Given the description of an element on the screen output the (x, y) to click on. 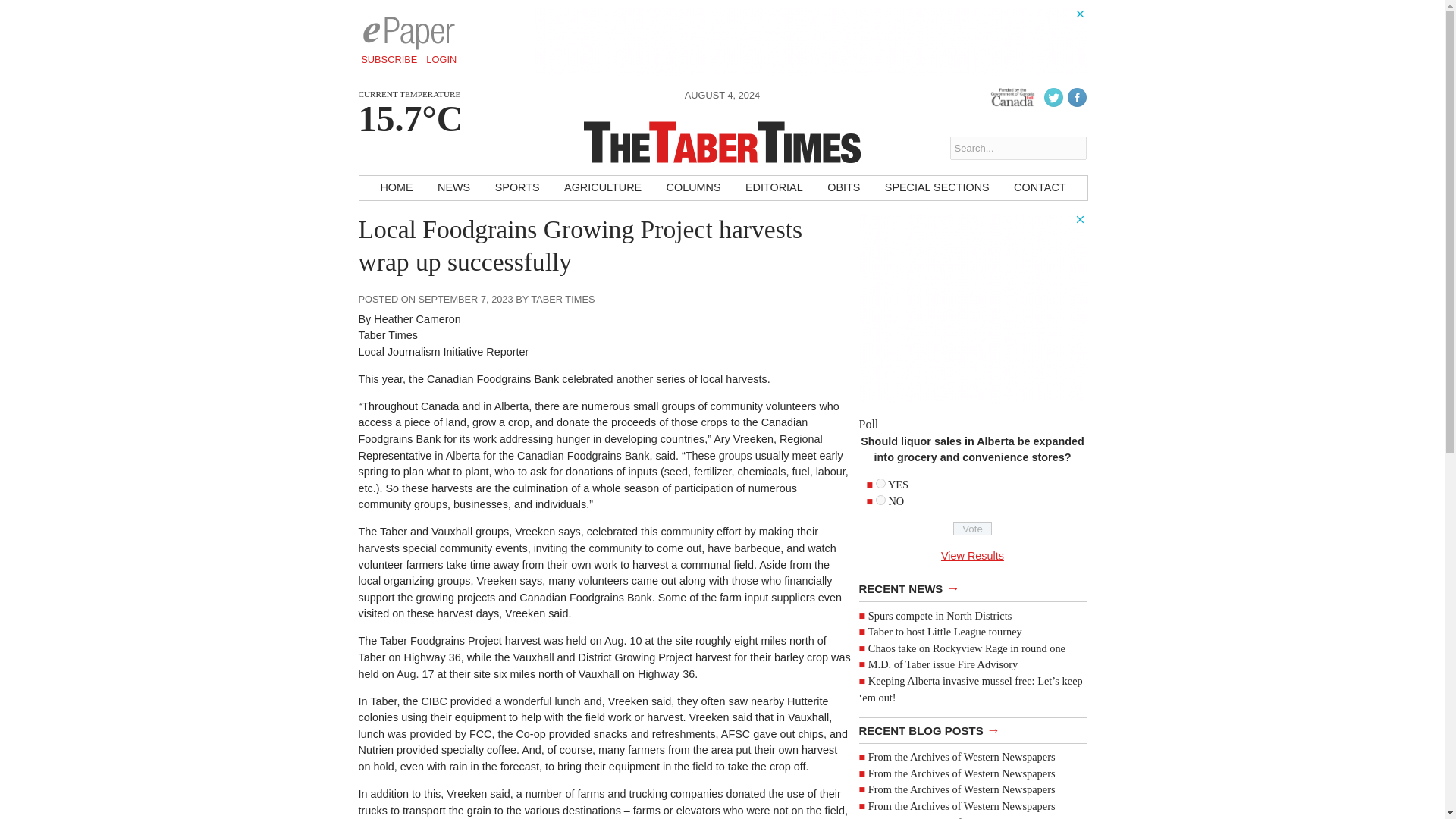
NEWS (453, 187)
LOGIN (441, 58)
EDITORIAL (774, 187)
SPORTS (517, 187)
OBITS (843, 187)
From the Archives of Western Newspapers (961, 812)
